Given the description of an element on the screen output the (x, y) to click on. 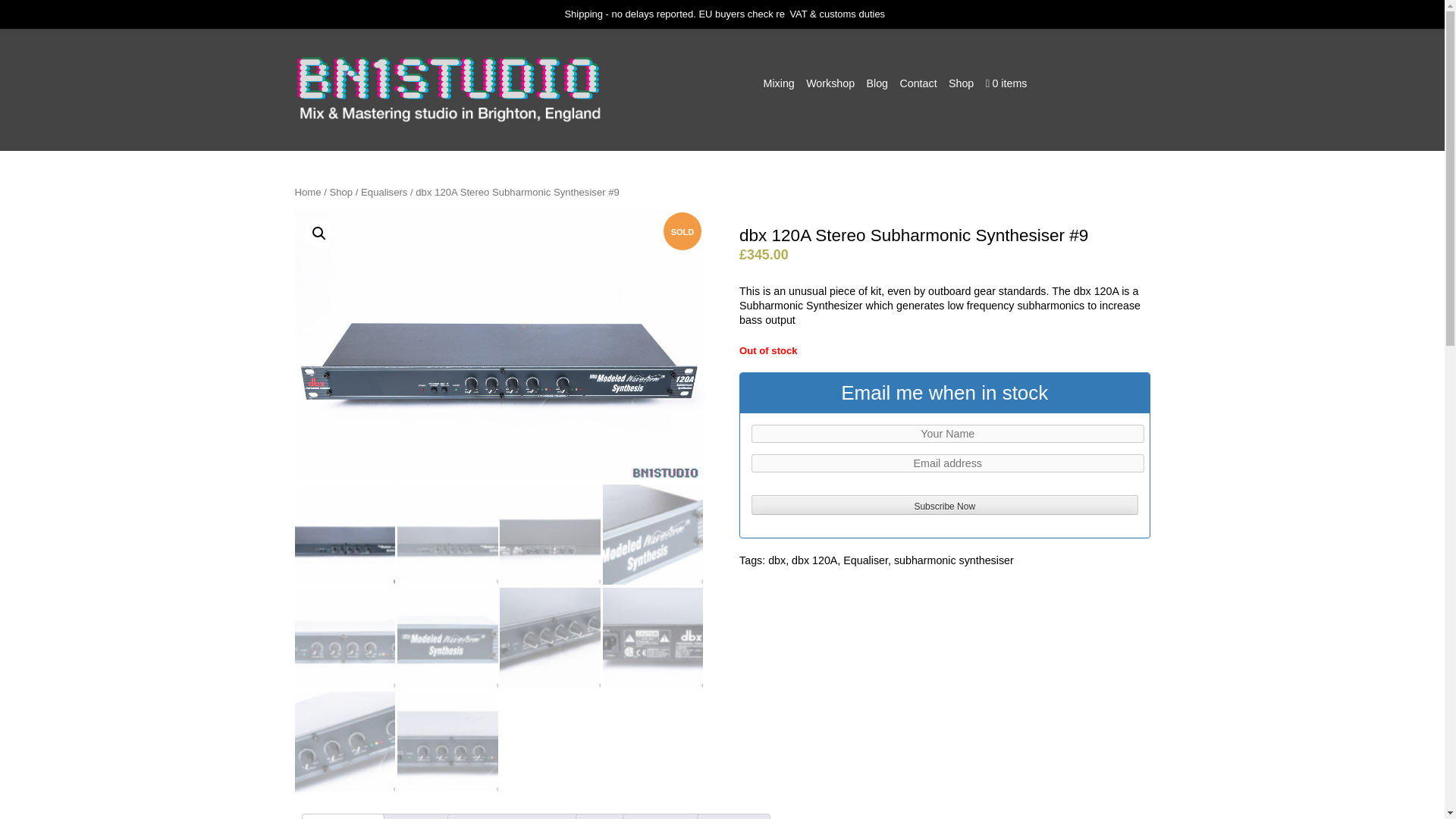
dbx (777, 560)
Home (307, 192)
Description (342, 816)
Workshop (830, 83)
Subscribe Now (944, 505)
Shop (961, 83)
Equaliser (865, 560)
Links (600, 816)
Shop (340, 192)
Rack Units (661, 816)
